Given the description of an element on the screen output the (x, y) to click on. 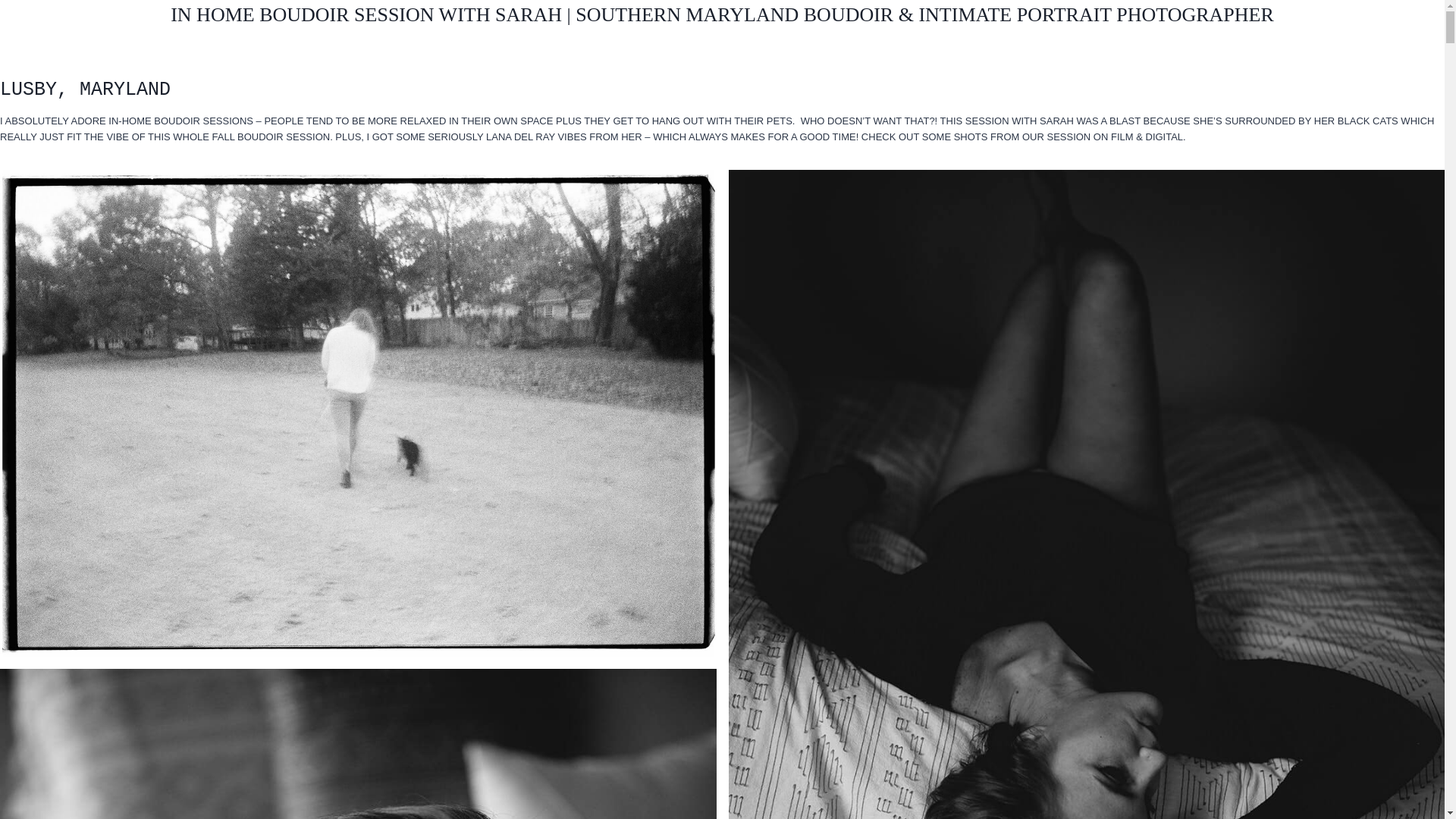
HOME (47, 112)
CONTACT (1387, 112)
PORTFOLIO (383, 112)
BLOGS (725, 112)
PRICING (1056, 112)
